Given the description of an element on the screen output the (x, y) to click on. 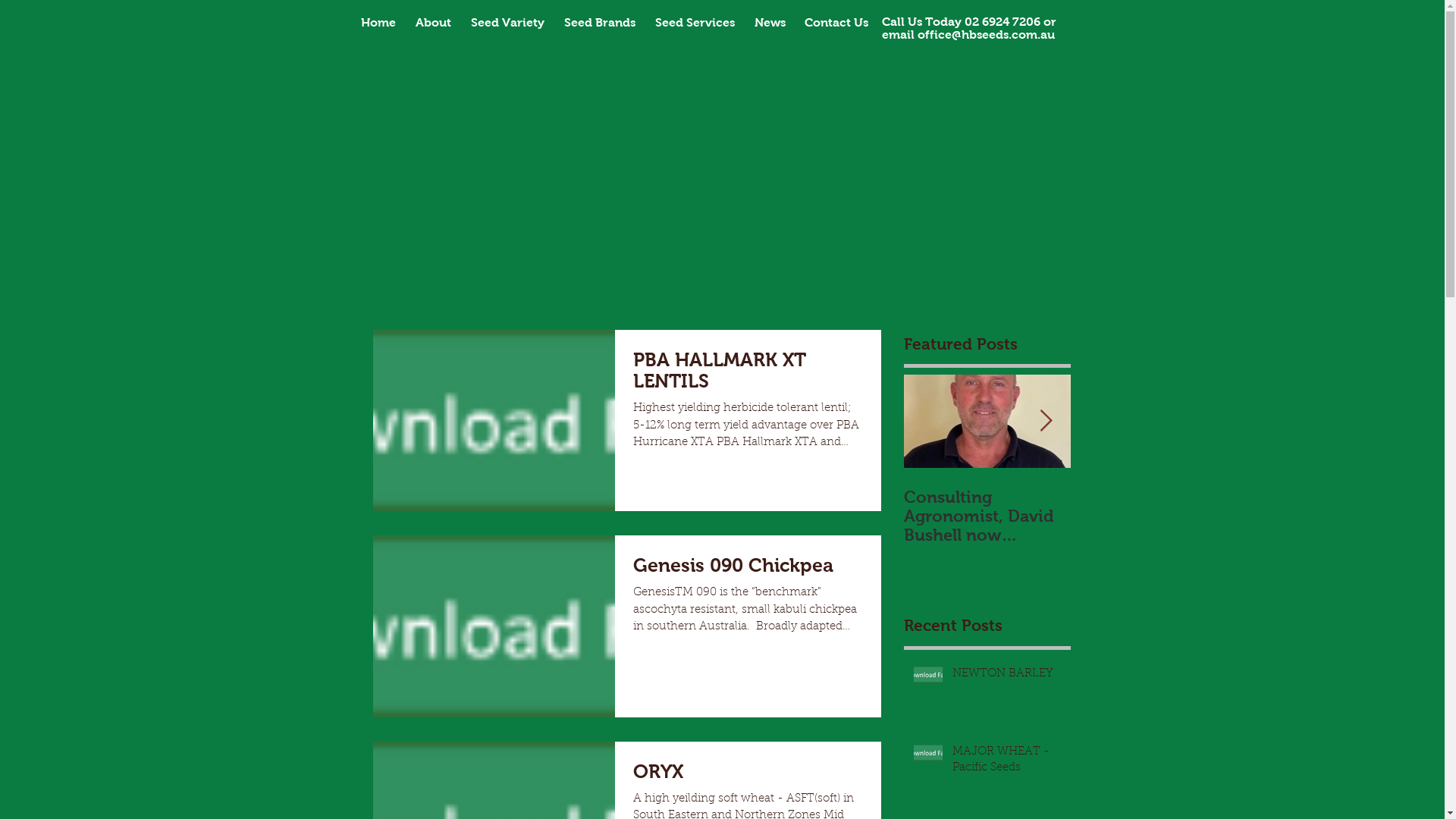
Seed Brands Element type: text (598, 21)
HBS and Aggrow Agronomy Trial Results Booklet 2020 Element type: text (1153, 515)
Home Element type: text (377, 21)
Seed Services Element type: text (693, 21)
News Element type: text (769, 21)
Genesis 090 Chickpea Element type: text (747, 568)
ORYX Element type: text (747, 774)
MAJOR WHEAT - Pacific Seeds Element type: text (1006, 762)
Contact Us Element type: text (835, 21)
About Element type: text (432, 21)
PBA HALLMARK XT LENTILS Element type: text (747, 374)
office@hbseeds.com.au Element type: text (985, 34)
NEWTON BARLEY Element type: text (1006, 676)
Seed Variety Element type: text (507, 21)
